Given the description of an element on the screen output the (x, y) to click on. 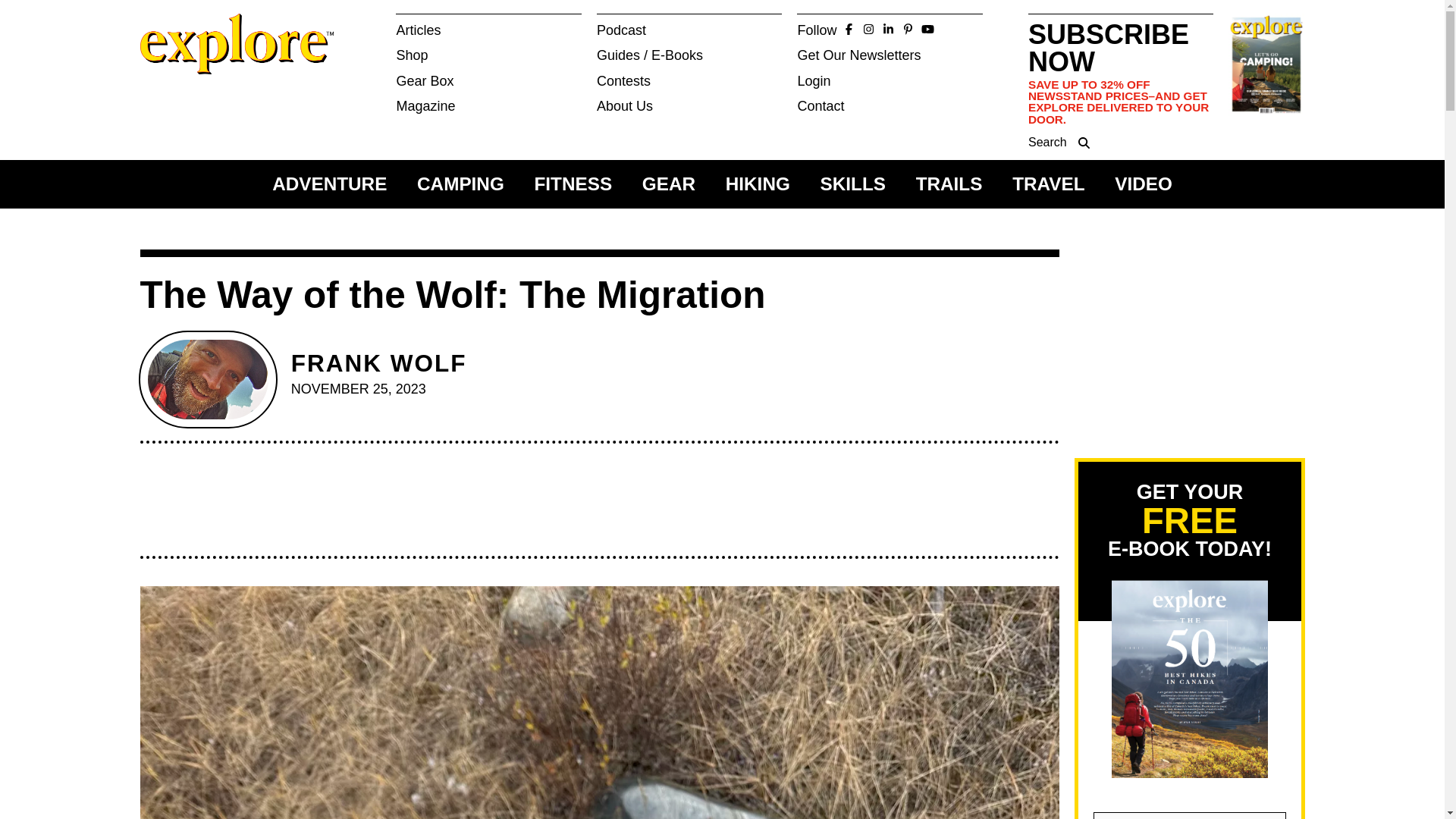
3rd party ad content (1187, 343)
Gear Box (488, 81)
Next Story (712, 32)
toggle menu (407, 24)
Previous Story (596, 32)
Get Our Newsletters (889, 54)
About Us (689, 106)
3rd party ad content (591, 506)
Articles (488, 30)
ADVENTURE (329, 184)
HIKING (757, 184)
TRAILS (948, 184)
SKILLS (853, 184)
FITNESS (573, 184)
